Given the description of an element on the screen output the (x, y) to click on. 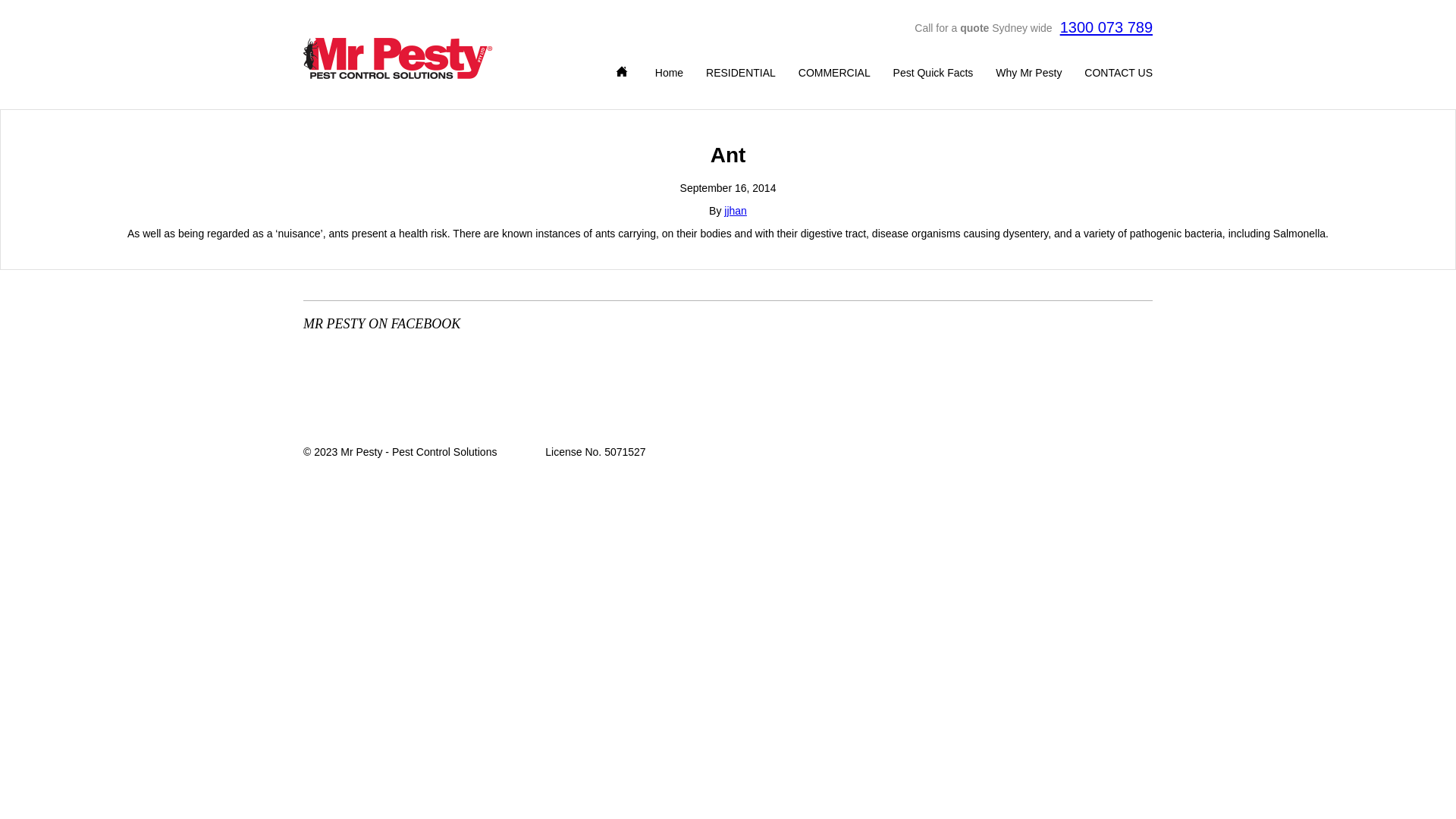
Pest Quick Facts Element type: text (933, 75)
CONTACT US Element type: text (1118, 75)
Home Element type: text (669, 75)
MR PESTY ON FACEBOOK Element type: text (474, 323)
Why Mr Pesty Element type: text (1028, 75)
RESIDENTIAL Element type: text (740, 75)
Home Element type: text (625, 71)
1300 073 789 Element type: text (1106, 26)
COMMERCIAL Element type: text (834, 75)
jjhan Element type: text (735, 210)
